Given the description of an element on the screen output the (x, y) to click on. 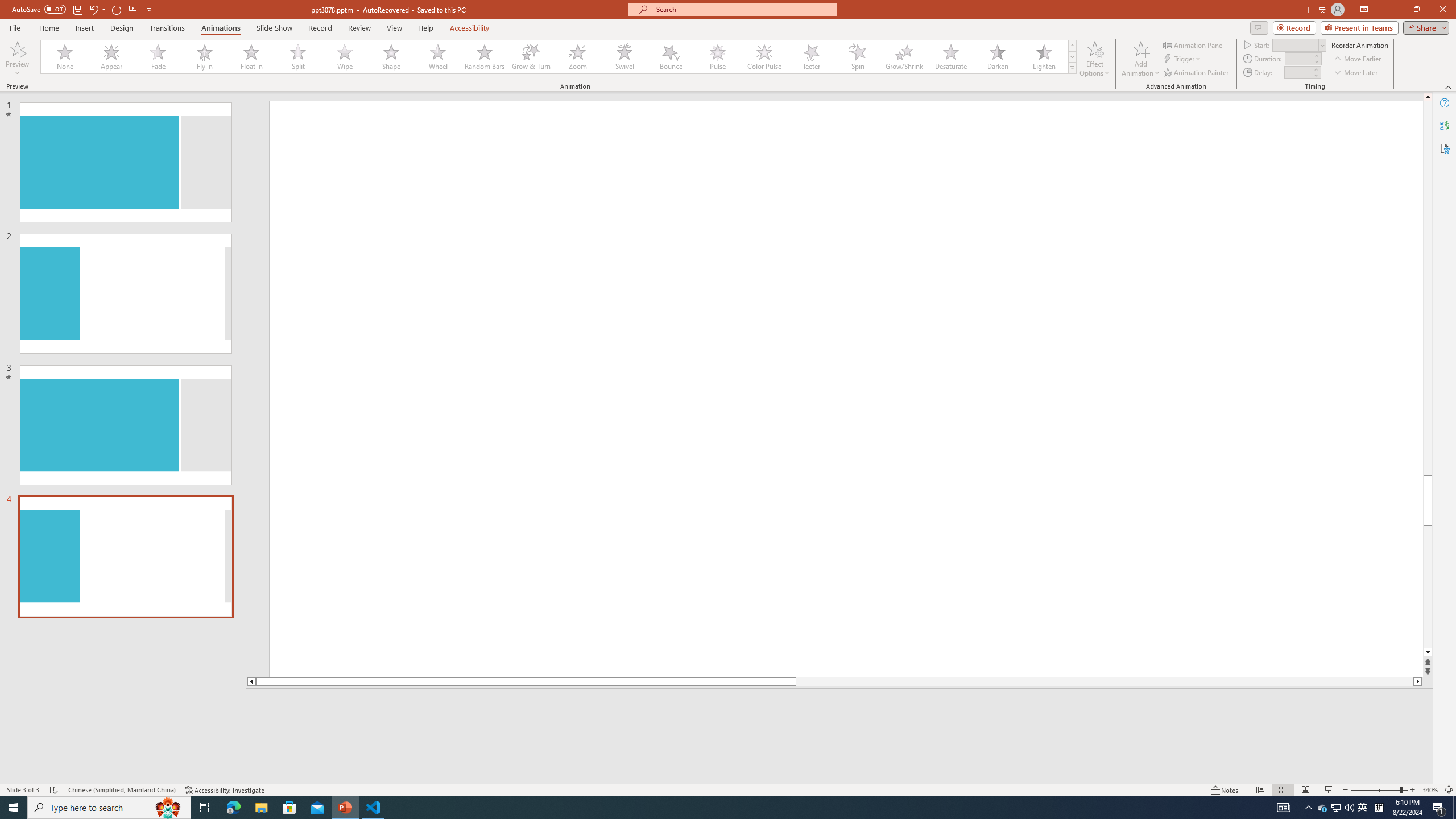
Color Pulse (764, 56)
Swivel (624, 56)
Float In (251, 56)
Wheel (437, 56)
Pulse (717, 56)
Bounce (670, 56)
